Given the description of an element on the screen output the (x, y) to click on. 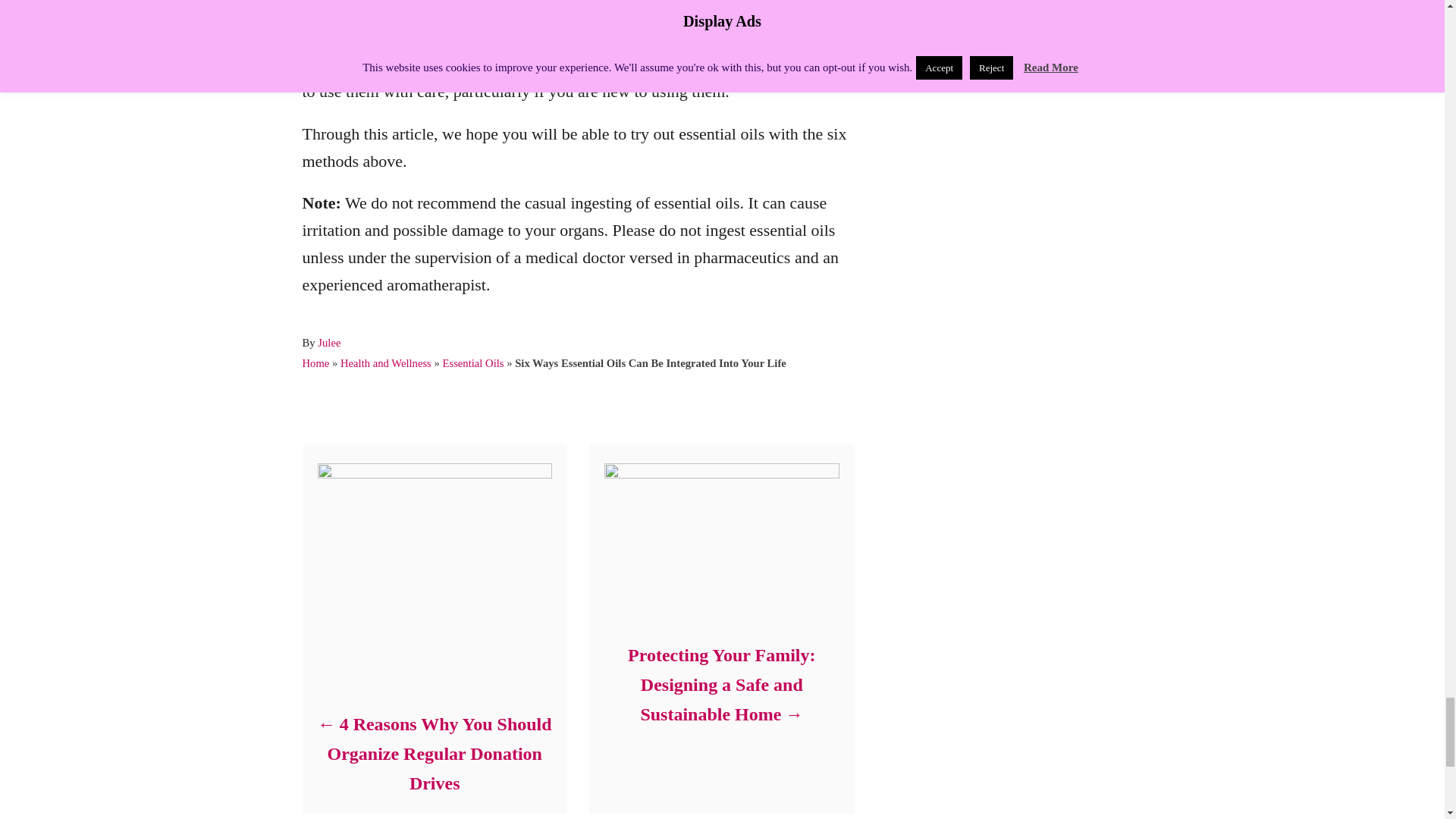
Essential Oils (472, 363)
Home (315, 363)
Health and Wellness (385, 363)
4 Reasons Why You Should Organize Regular Donation Drives (434, 754)
Julee (328, 342)
